Given the description of an element on the screen output the (x, y) to click on. 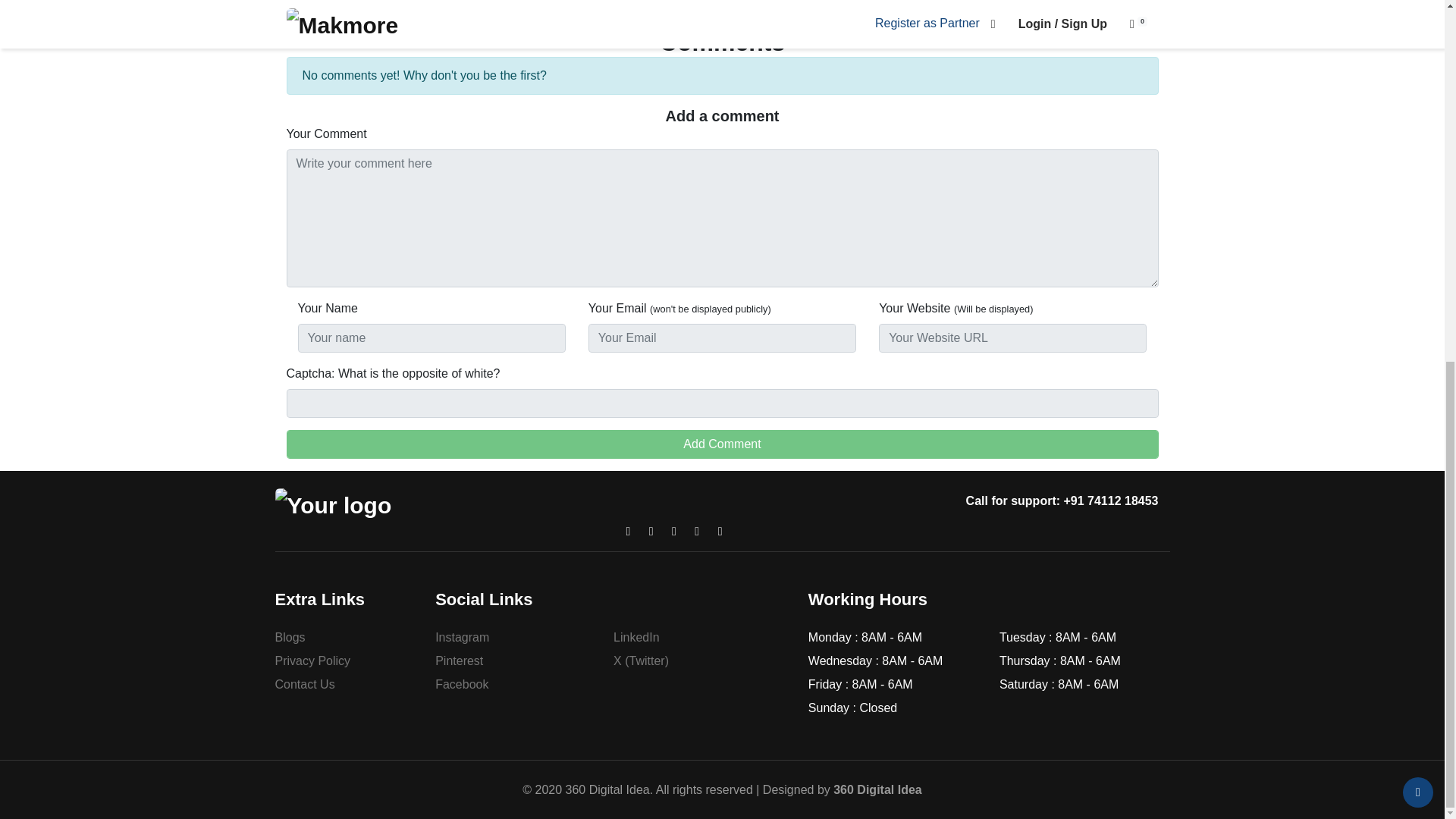
Contact Us (304, 684)
Instagram (462, 636)
Add Comment (722, 443)
Makmore (333, 505)
Facebook (461, 684)
Go to top (1417, 149)
LinkedIn (635, 636)
Add Comment (722, 443)
360 Digital Idea (876, 789)
Pinterest (459, 660)
